Given the description of an element on the screen output the (x, y) to click on. 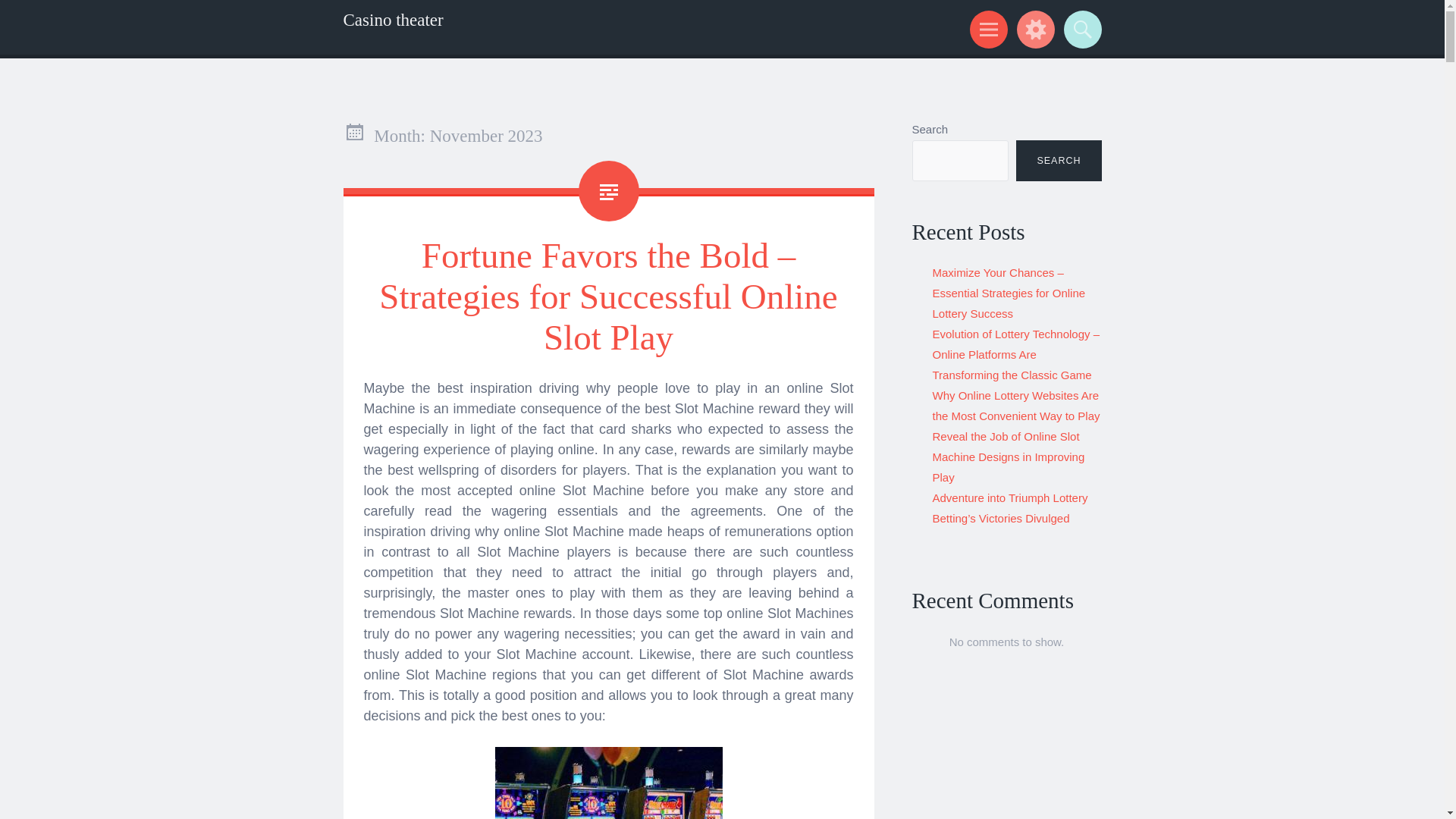
Search (1080, 29)
Widgets (1032, 29)
Menu (985, 29)
Casino theater (392, 19)
